Given the description of an element on the screen output the (x, y) to click on. 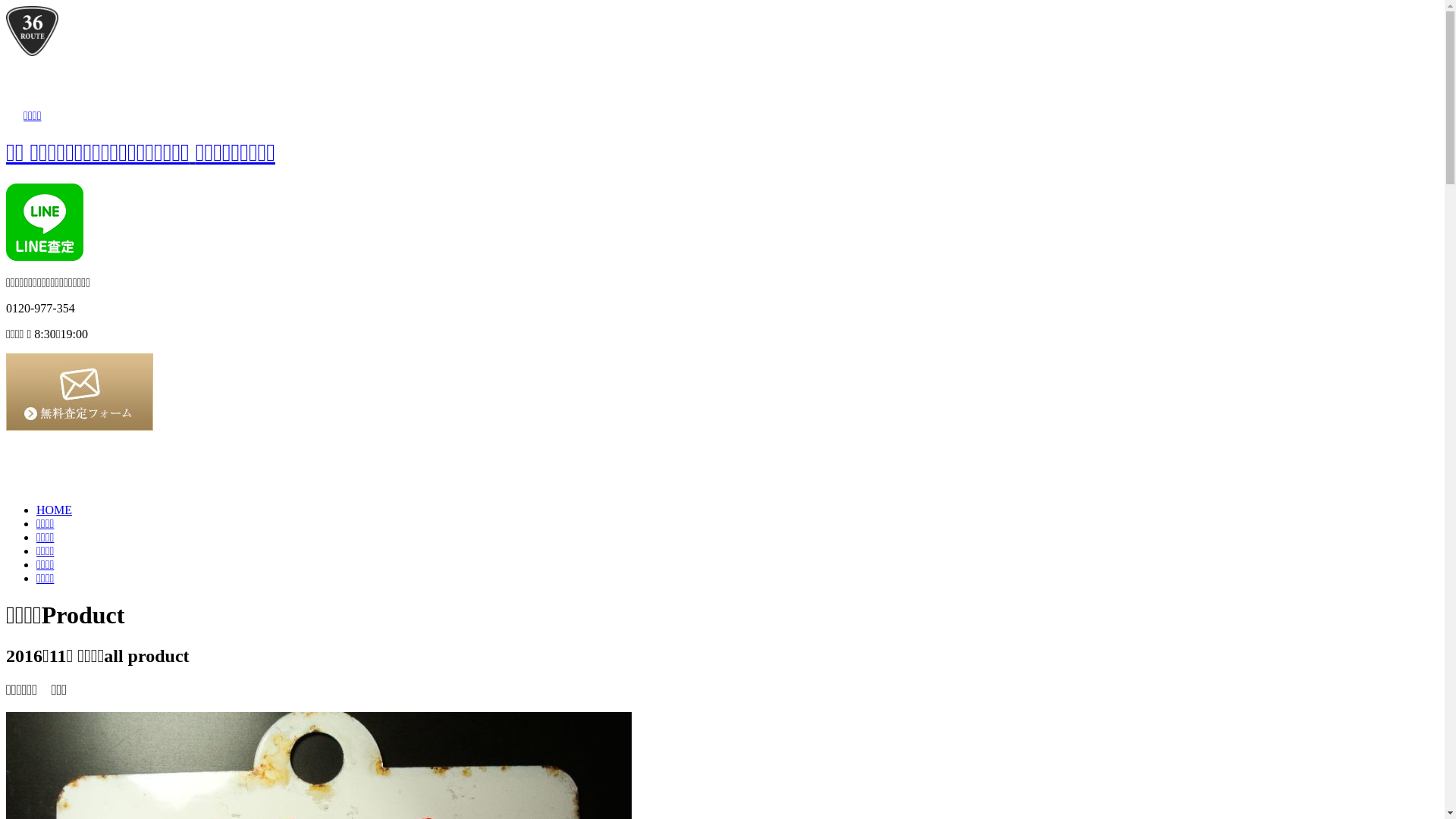
HOME Element type: text (54, 509)
